Given the description of an element on the screen output the (x, y) to click on. 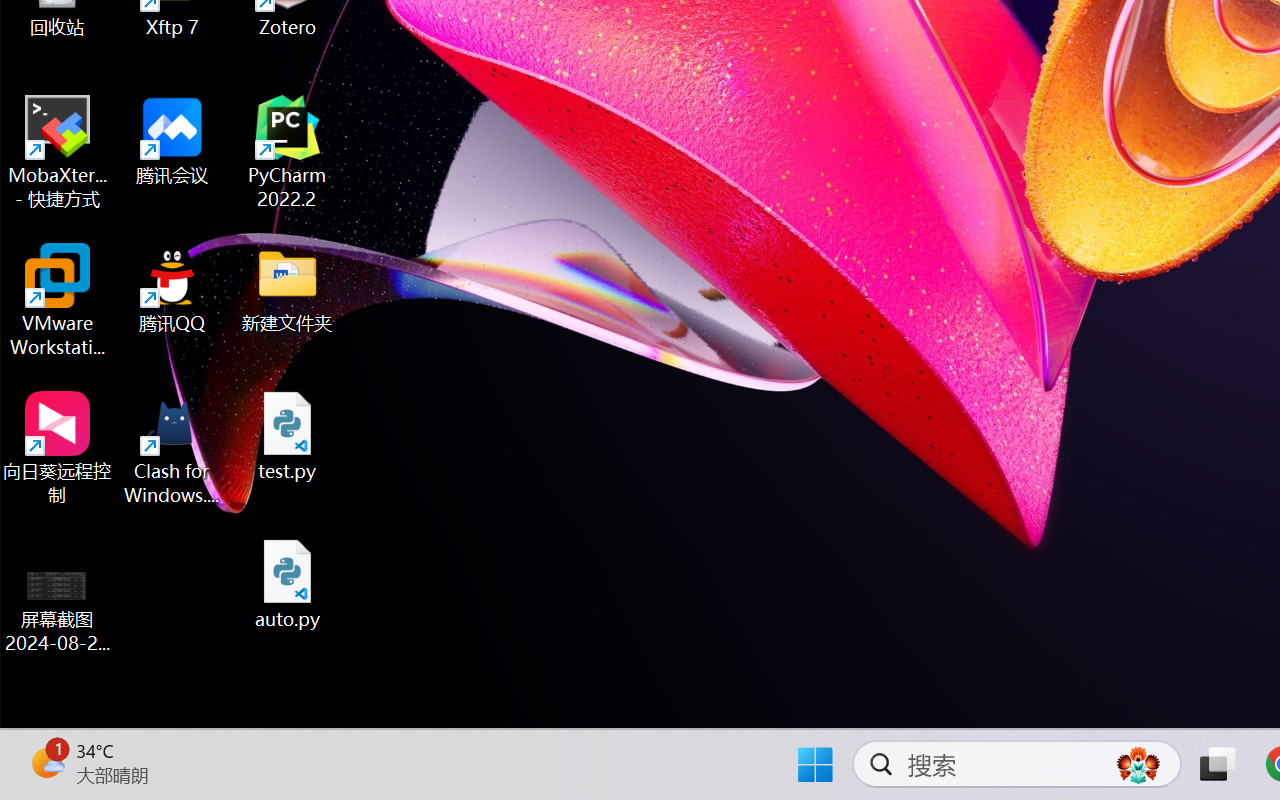
auto.py (287, 584)
test.py (287, 436)
VMware Workstation Pro (57, 300)
PyCharm 2022.2 (287, 152)
